Given the description of an element on the screen output the (x, y) to click on. 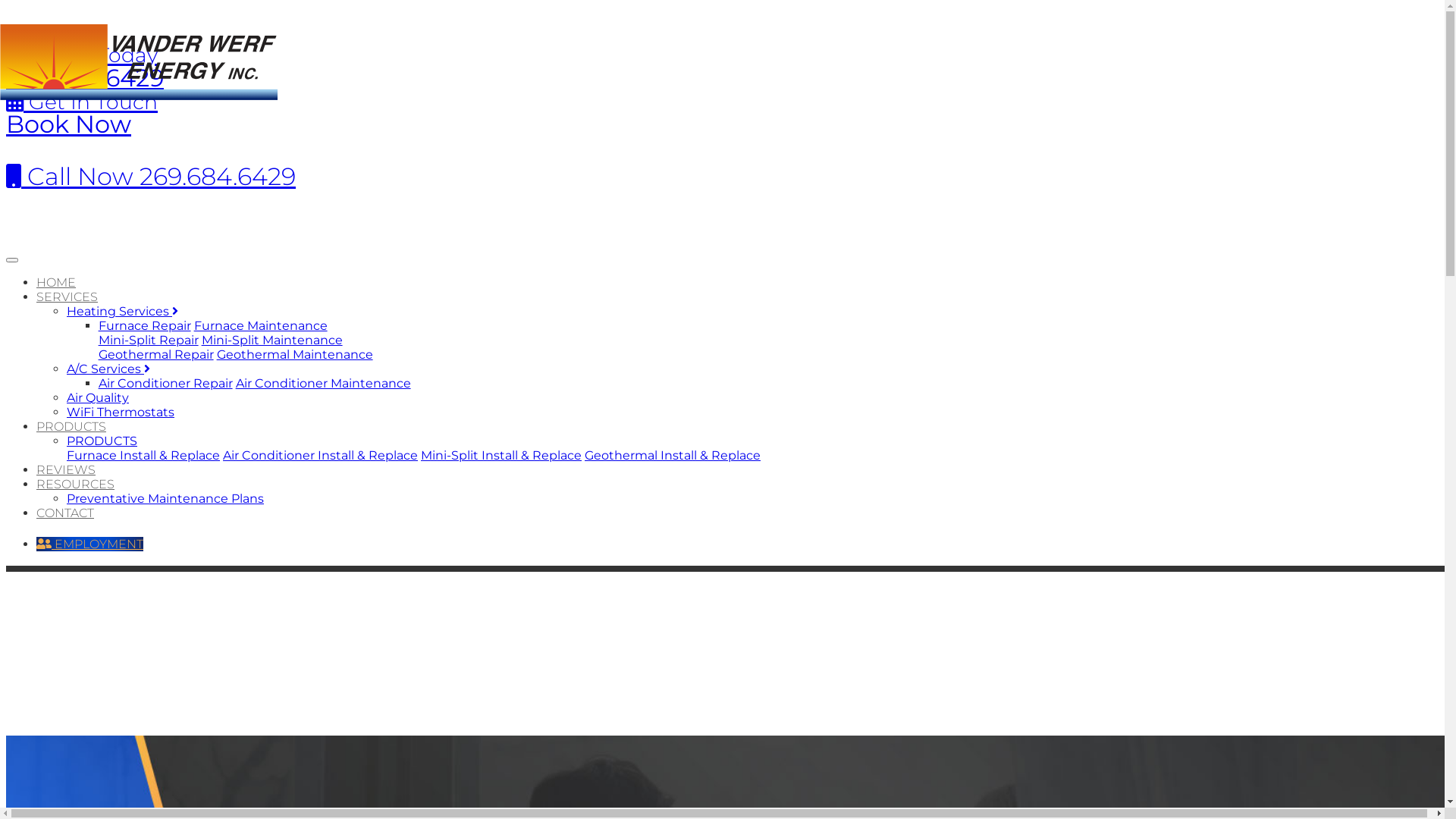
Call Us Today
269.684.6429 Element type: text (84, 65)
WiFi Thermostats Element type: text (120, 411)
SERVICES Element type: text (66, 296)
Mini-Split Repair Element type: text (148, 339)
Call Now 269.684.6429 Element type: text (150, 176)
Furnace Maintenance Element type: text (260, 325)
EMPLOYMENT Element type: text (89, 543)
REVIEWS Element type: text (65, 469)
Geothermal Install & Replace Element type: text (672, 455)
Get In Touch
Book Now Element type: text (81, 112)
CONTACT Element type: text (65, 512)
PRODUCTS Element type: text (101, 440)
Air Conditioner Install & Replace Element type: text (319, 455)
Air Conditioner Repair Element type: text (165, 383)
Heating Services Element type: text (122, 311)
PRODUCTS Element type: text (71, 426)
Geothermal Repair Element type: text (155, 354)
Preventative Maintenance Plans Element type: text (164, 498)
RESOURCES Element type: text (75, 483)
HOME Element type: text (55, 282)
Mini-Split Install & Replace Element type: text (500, 455)
A/C Services Element type: text (108, 368)
Furnace Install & Replace Element type: text (142, 455)
Air Quality Element type: text (97, 397)
Air Conditioner Maintenance Element type: text (323, 383)
Mini-Split Maintenance Element type: text (271, 339)
Furnace Repair Element type: text (144, 325)
Geothermal Maintenance Element type: text (294, 354)
